Given the description of an element on the screen output the (x, y) to click on. 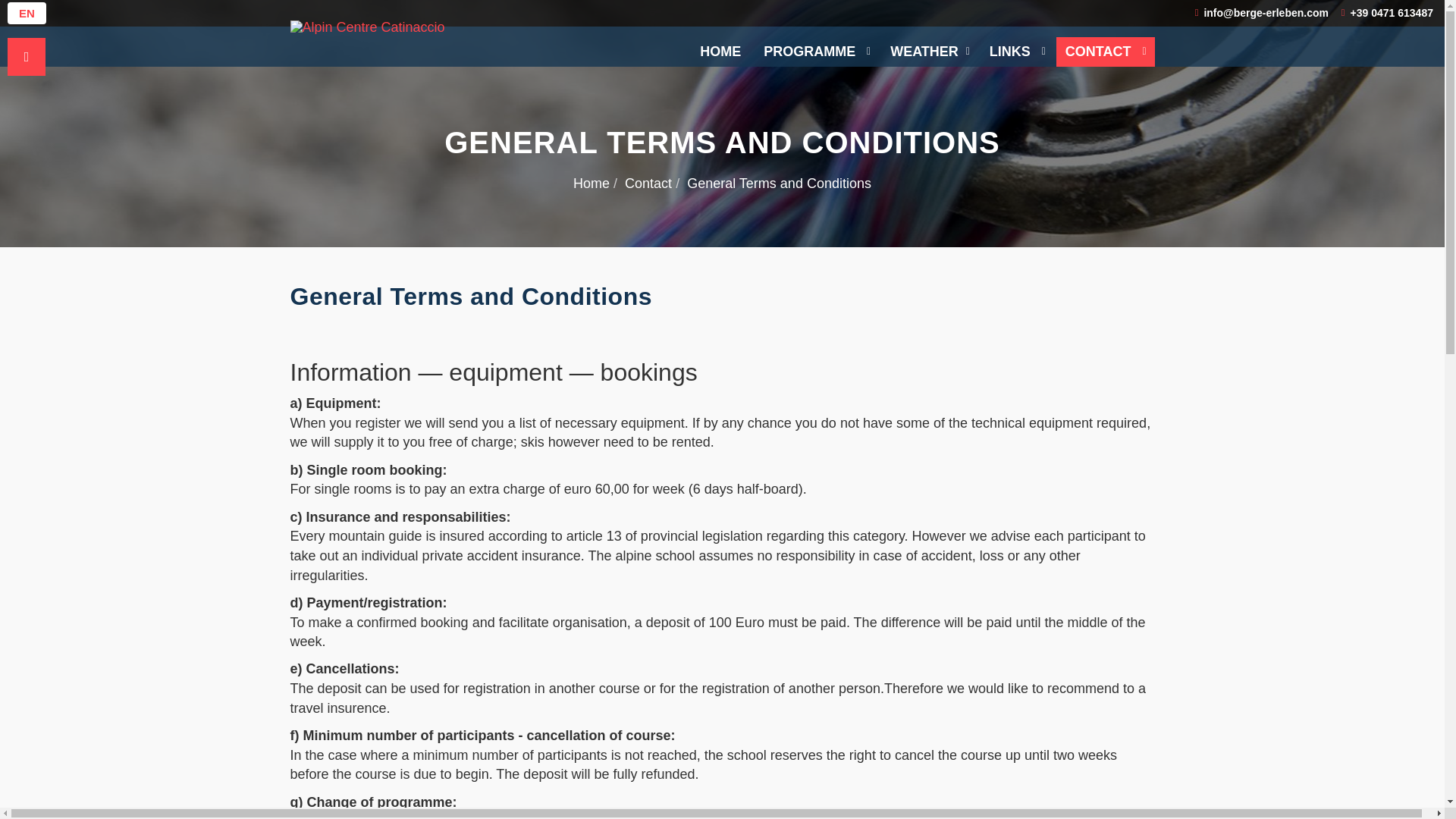
CONTACT (1105, 51)
Alpin Centre Catinaccio (366, 27)
HOME (720, 51)
EN (26, 13)
Contact (647, 183)
General Terms and Conditions (469, 296)
Home (591, 183)
General Terms and Conditions (469, 296)
PROGRAMME (816, 51)
LINKS (1016, 51)
